Given the description of an element on the screen output the (x, y) to click on. 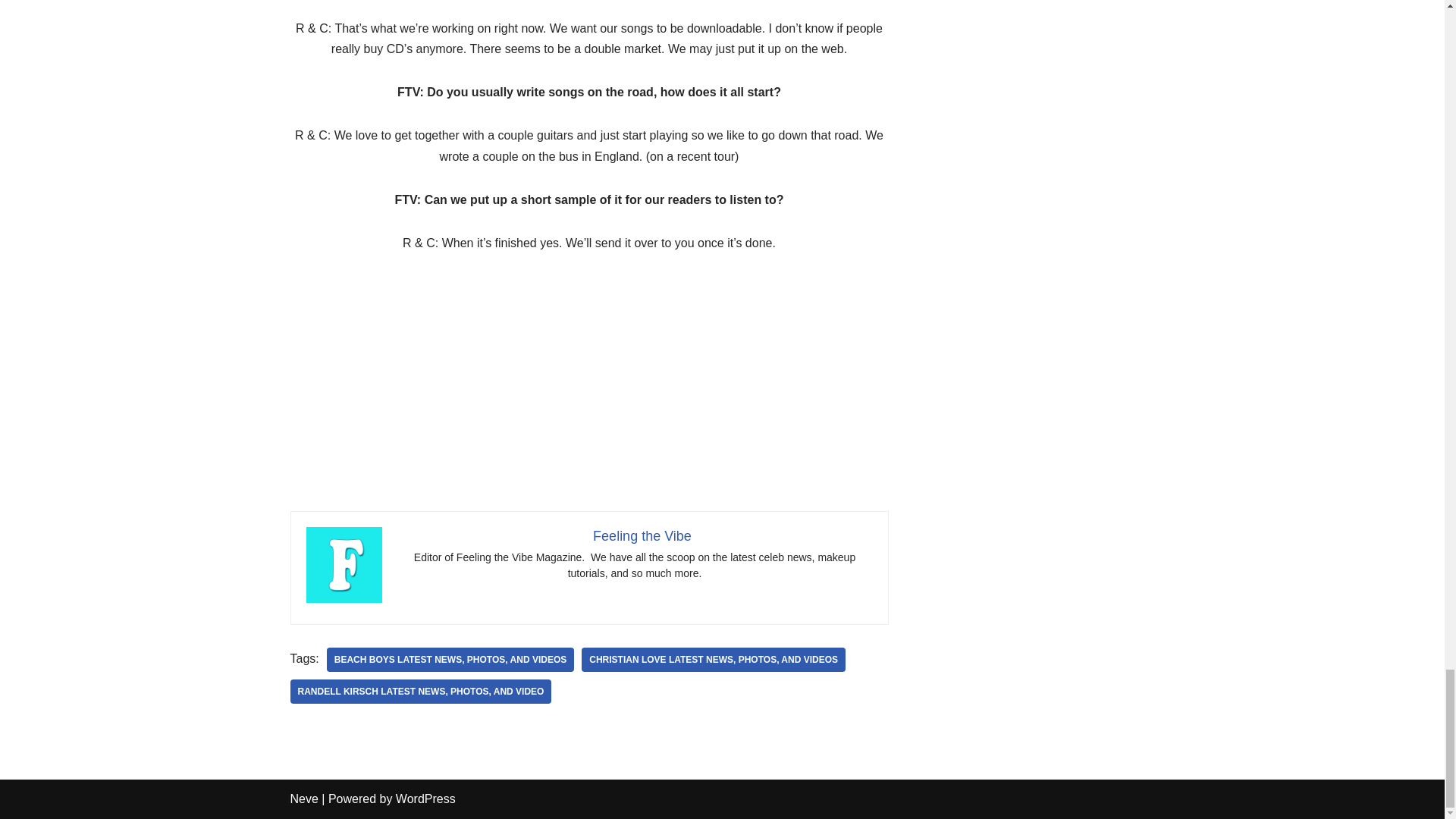
Randell Kirsch Latest News, Photos, and Video (420, 691)
BEACH BOYS LATEST NEWS, PHOTOS, AND VIDEOS (449, 659)
WordPress (425, 798)
Beach Boys Latest News, Photos, and Videos (449, 659)
Neve (303, 798)
RANDELL KIRSCH LATEST NEWS, PHOTOS, AND VIDEO (420, 691)
Christian Love Latest News, Photos, and Videos (712, 659)
Feeling the Vibe (641, 535)
CHRISTIAN LOVE LATEST NEWS, PHOTOS, AND VIDEOS (712, 659)
